Given the description of an element on the screen output the (x, y) to click on. 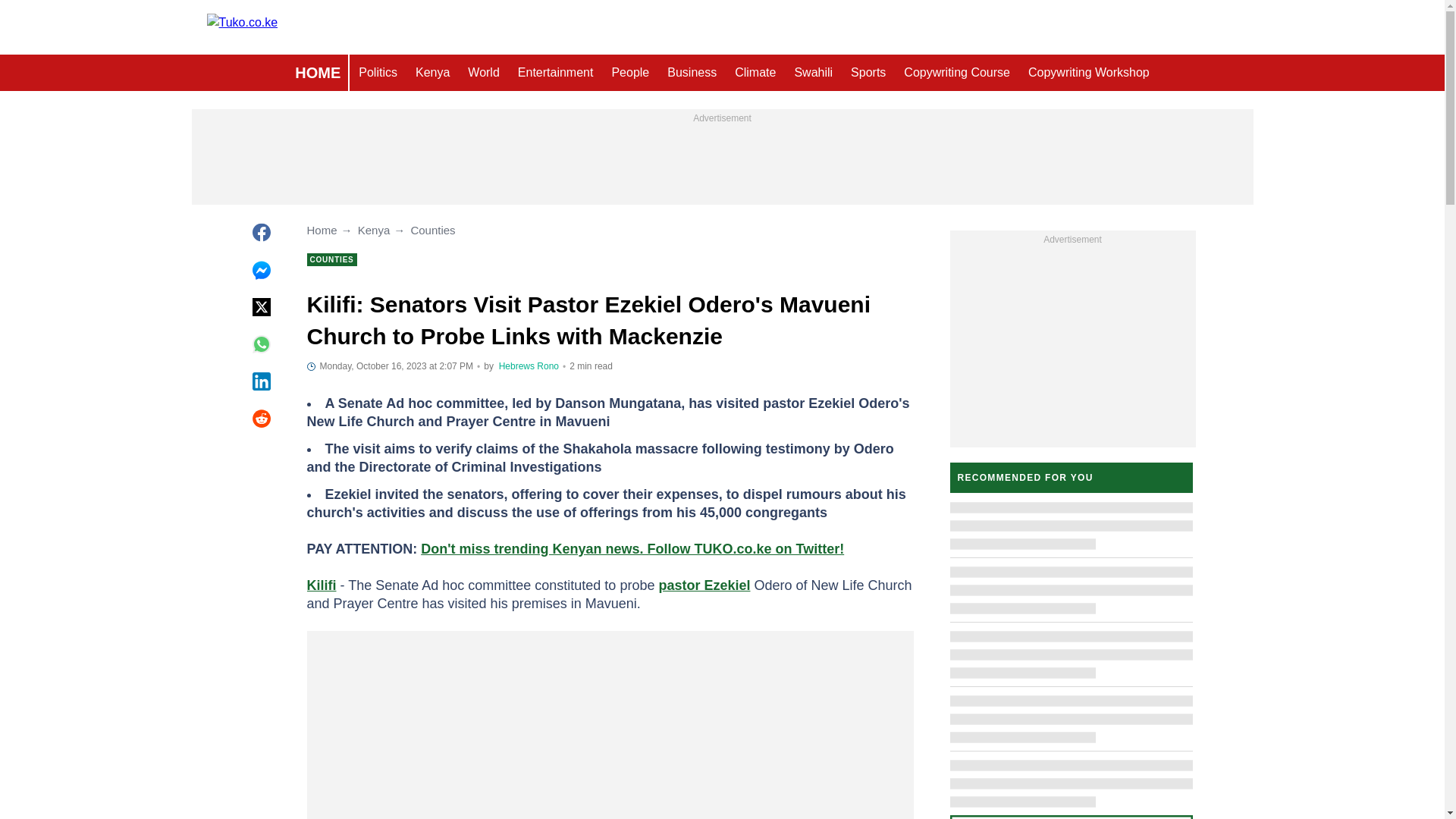
Swahili (812, 72)
HOME (317, 72)
Kenya (432, 72)
Business (691, 72)
Copywriting Course (957, 72)
Author page (529, 366)
Copywriting Workshop (1088, 72)
Entertainment (555, 72)
Sports (868, 72)
World (483, 72)
